Given the description of an element on the screen output the (x, y) to click on. 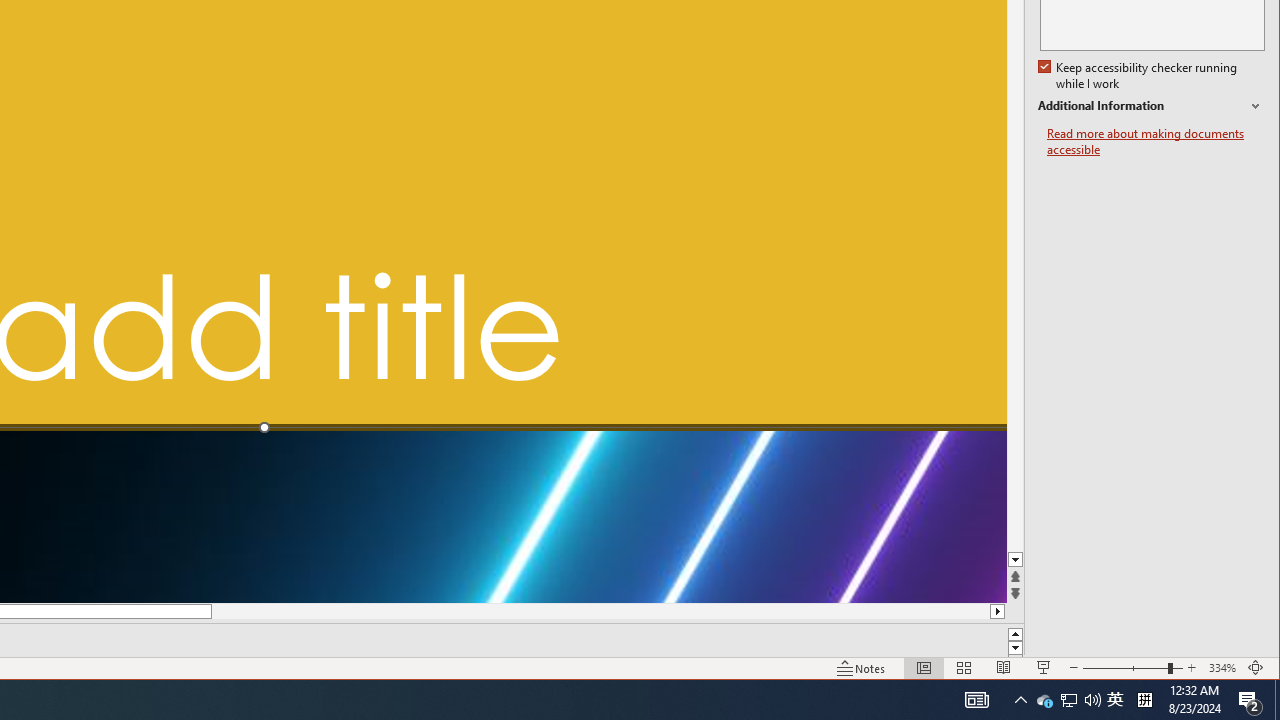
Zoom 334% (1222, 668)
